Given the description of an element on the screen output the (x, y) to click on. 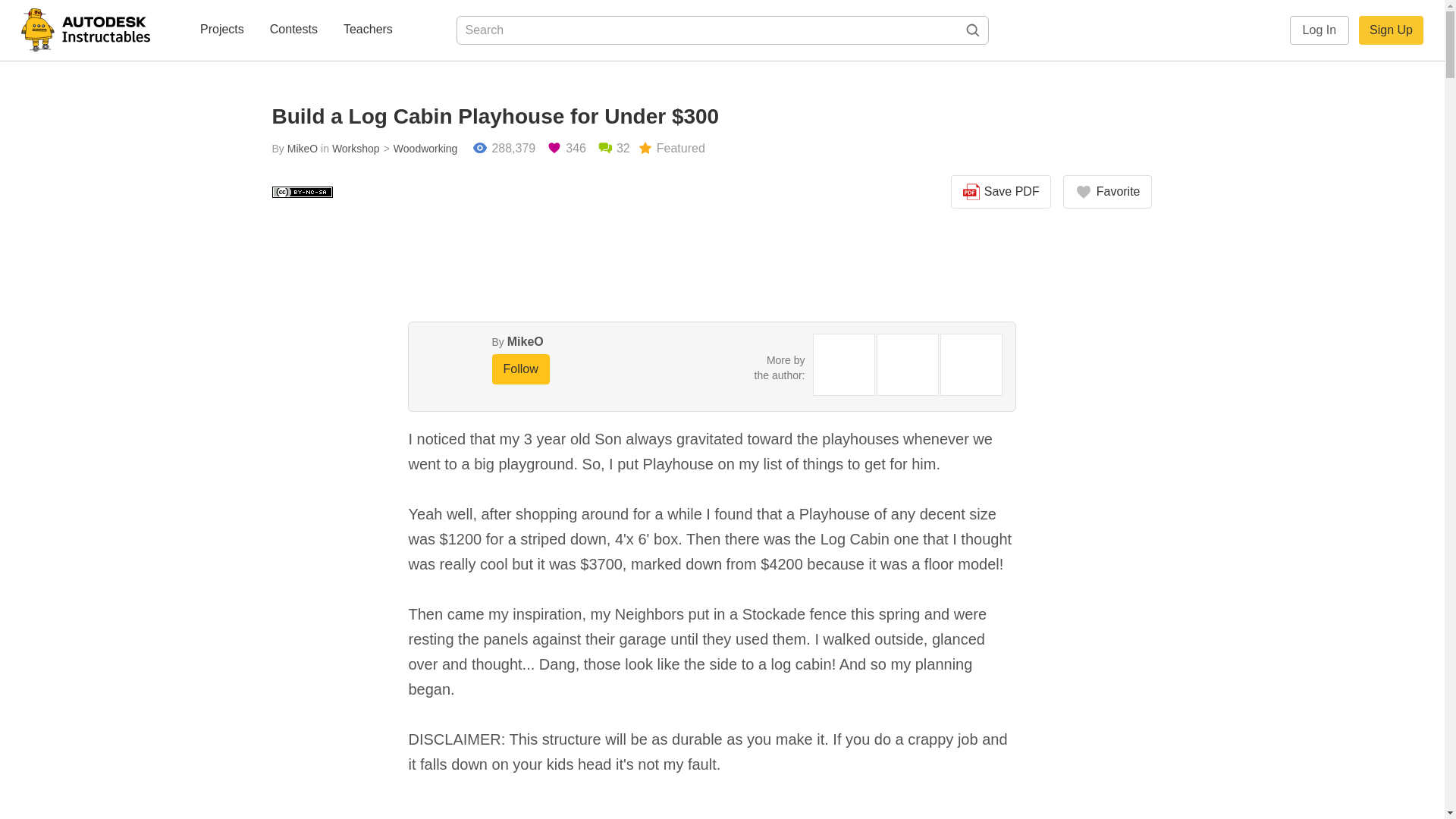
Workshop (355, 148)
Favorite (1106, 191)
Follow (520, 368)
Save PDF (1000, 191)
Teachers (368, 30)
32 (613, 148)
Projects (221, 30)
MikeO (524, 341)
Woodworking (419, 148)
More by the author: (779, 366)
Contests (293, 30)
Log In (1319, 30)
Sign Up (1390, 30)
MikeO (301, 148)
